Given the description of an element on the screen output the (x, y) to click on. 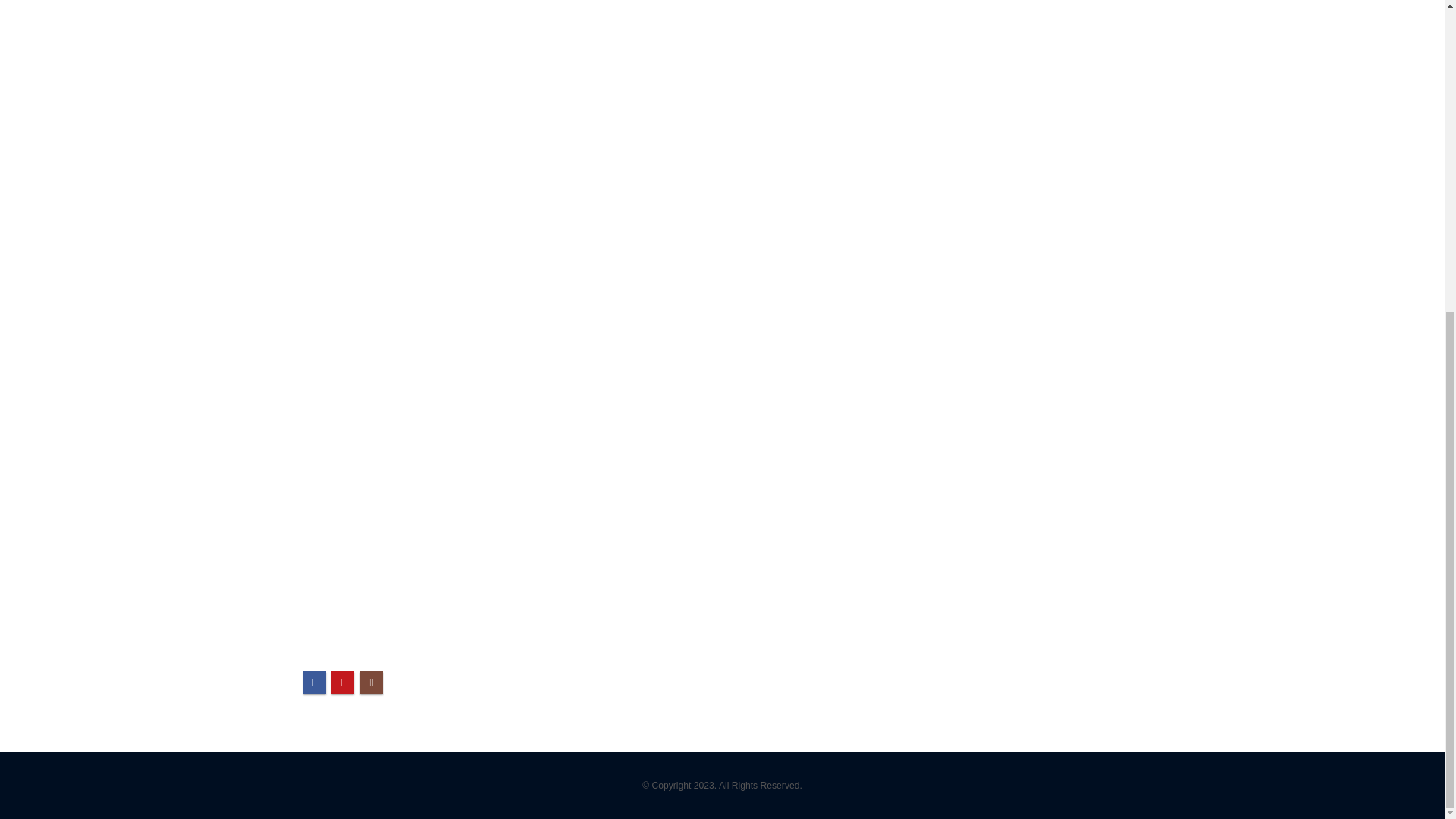
Facebook (314, 681)
Instagram (370, 681)
Youtube (342, 681)
